Given the description of an element on the screen output the (x, y) to click on. 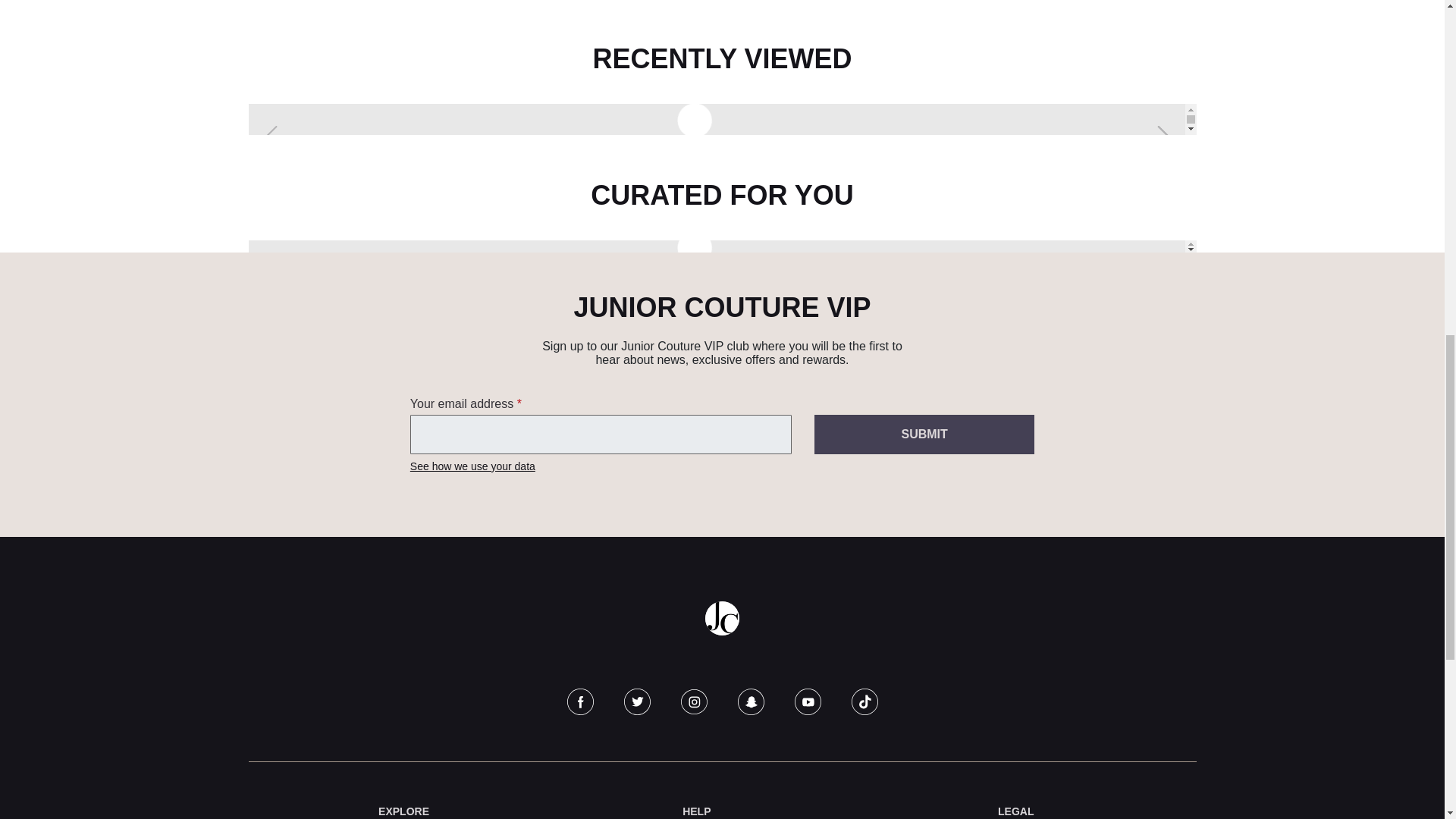
Juniour Couture Home (721, 618)
